Given the description of an element on the screen output the (x, y) to click on. 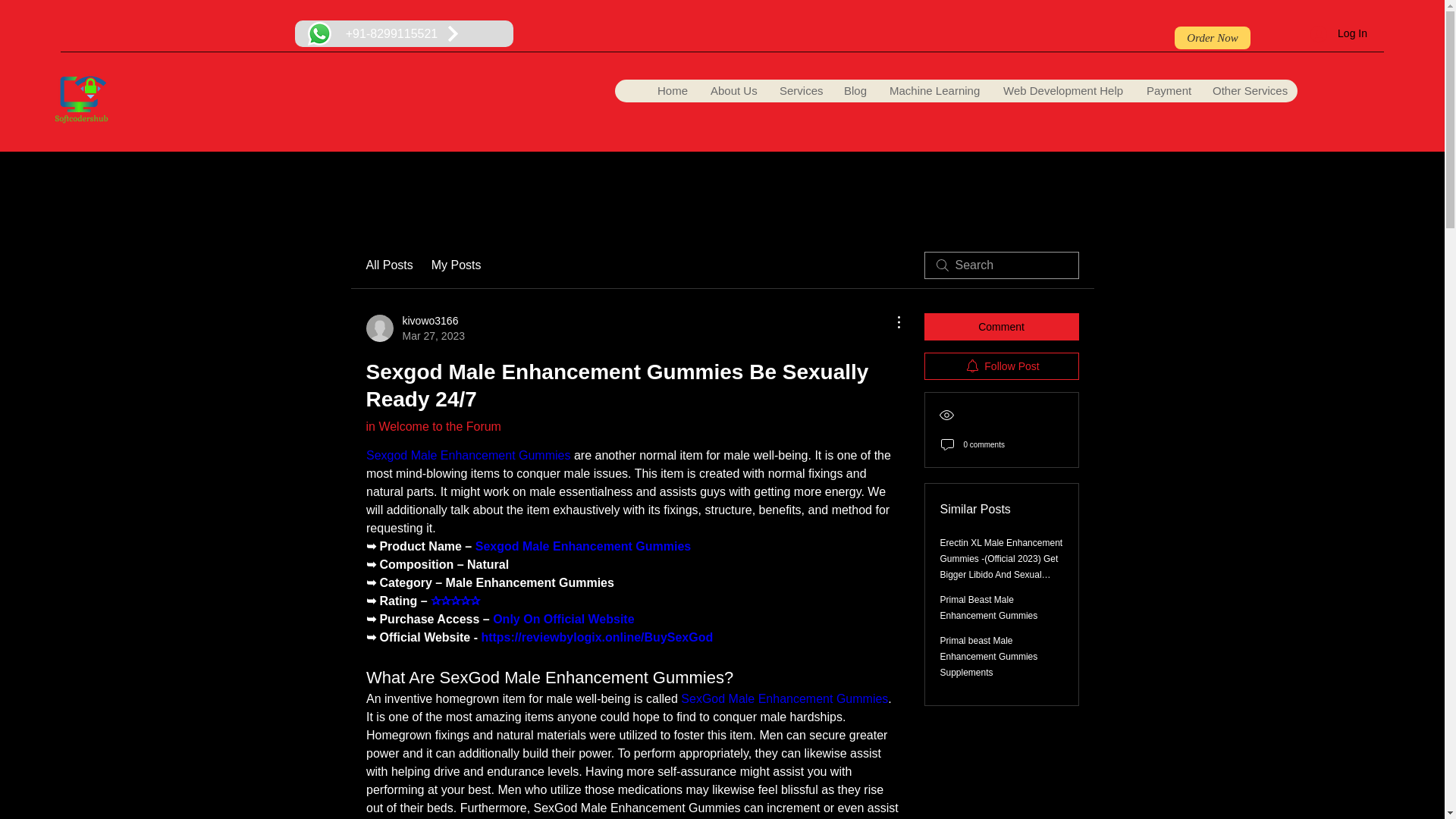
Log In (1338, 33)
All Posts (388, 265)
Blog (414, 327)
My Posts (854, 90)
in Welcome to the Forum (455, 265)
Payment (432, 426)
Order Now (1166, 90)
Web Development Help (1212, 37)
Other Services (1062, 90)
Home (1248, 90)
Machine Learning (671, 90)
